Given the description of an element on the screen output the (x, y) to click on. 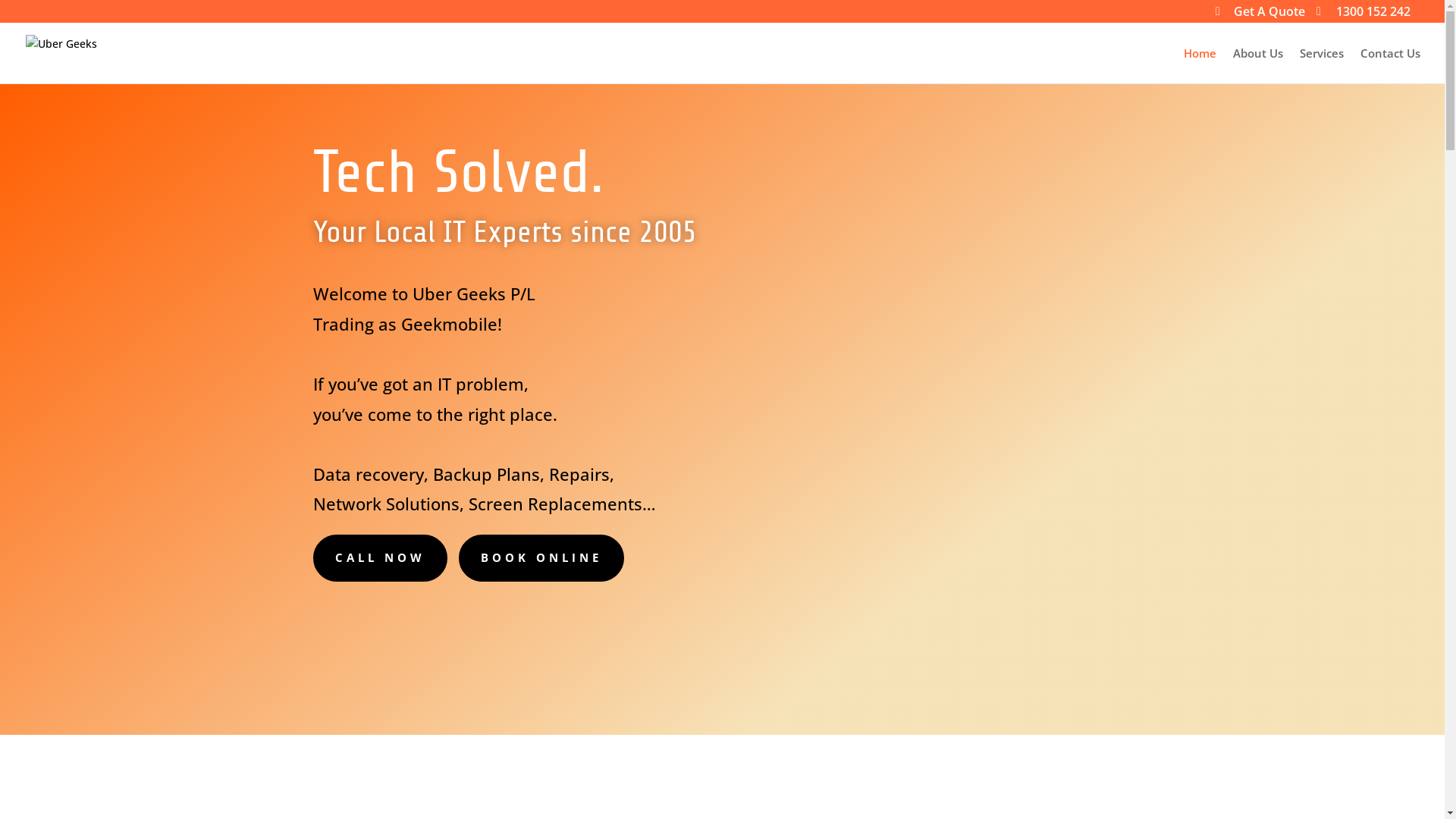
CALL NOW Element type: text (379, 558)
About Us Element type: text (1258, 65)
Home Element type: text (1199, 65)
1300 152 242 Element type: text (1363, 15)
Contact Us Element type: text (1390, 65)
Get A Quote Element type: text (1260, 15)
BOOK ONLINE Element type: text (540, 558)
Services Element type: text (1321, 65)
